Given the description of an element on the screen output the (x, y) to click on. 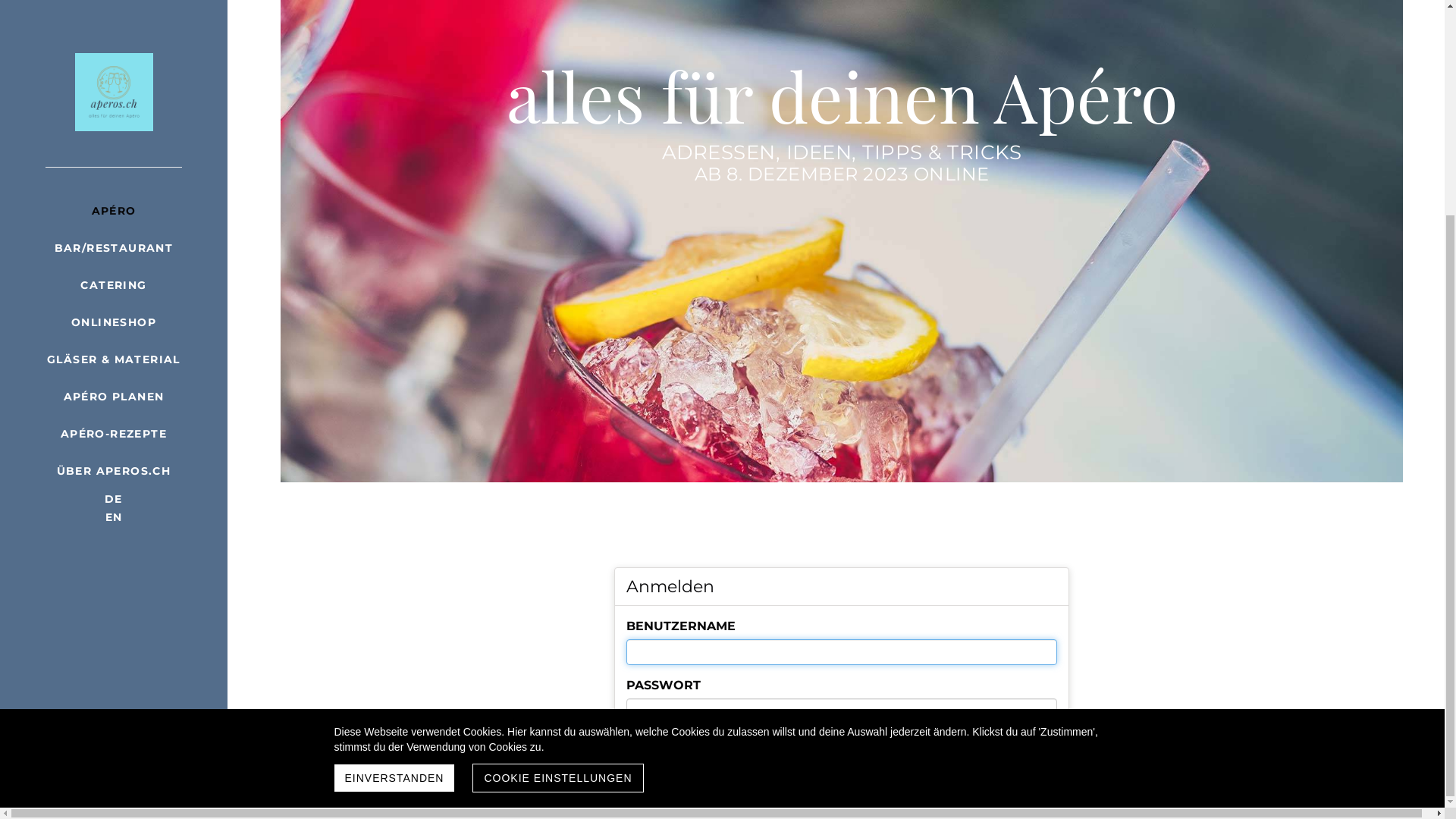
ONLINESHOP Element type: text (113, 605)
CATERING Element type: text (113, 568)
DE Element type: text (113, 782)
EN Element type: text (113, 800)
BAR/RESTAURANT Element type: text (113, 530)
